Given the description of an element on the screen output the (x, y) to click on. 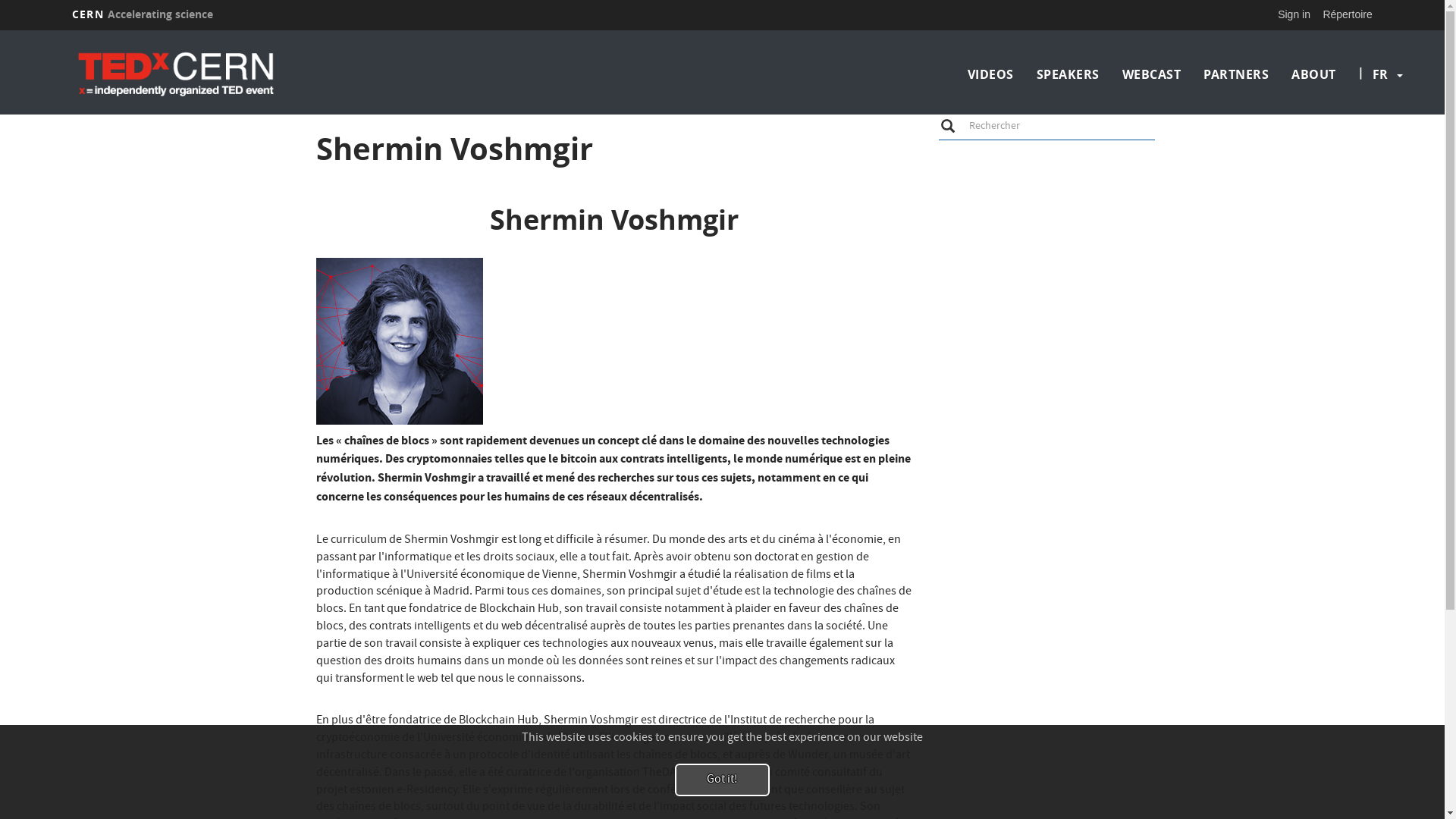
Sign in Element type: text (1293, 14)
Accueil Element type: hover (230, 74)
PARTNERS Element type: text (1235, 74)
Aller au contenu principal Element type: text (0, 30)
Rechercher Element type: text (947, 124)
CERN Accelerating science Element type: text (142, 14)
ABOUT Element type: text (1313, 74)
|
FR Element type: text (1379, 73)
Got it! Element type: text (721, 779)
SPEAKERS Element type: text (1067, 74)
VIDEOS Element type: text (990, 74)
WEBCAST Element type: text (1151, 74)
